Given the description of an element on the screen output the (x, y) to click on. 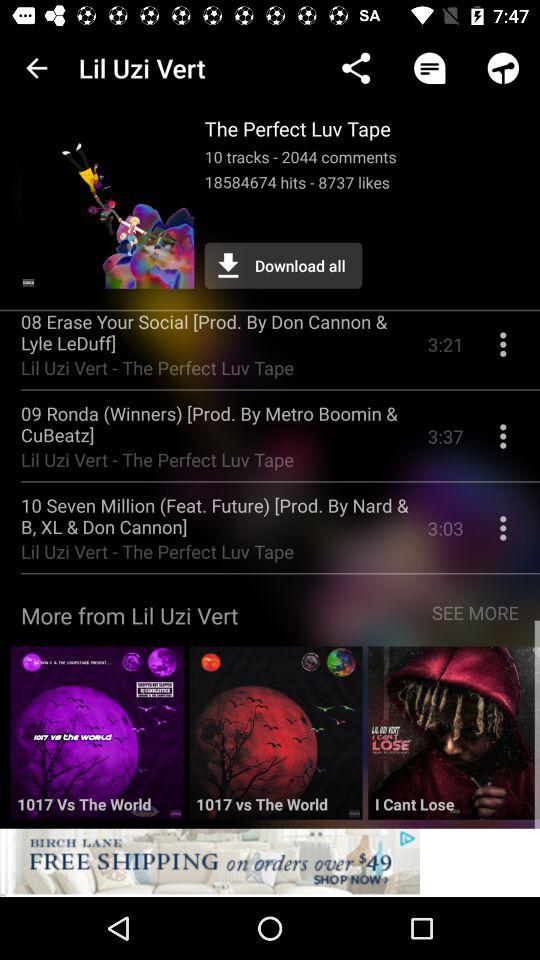
press icon below  hits item (283, 265)
